Given the description of an element on the screen output the (x, y) to click on. 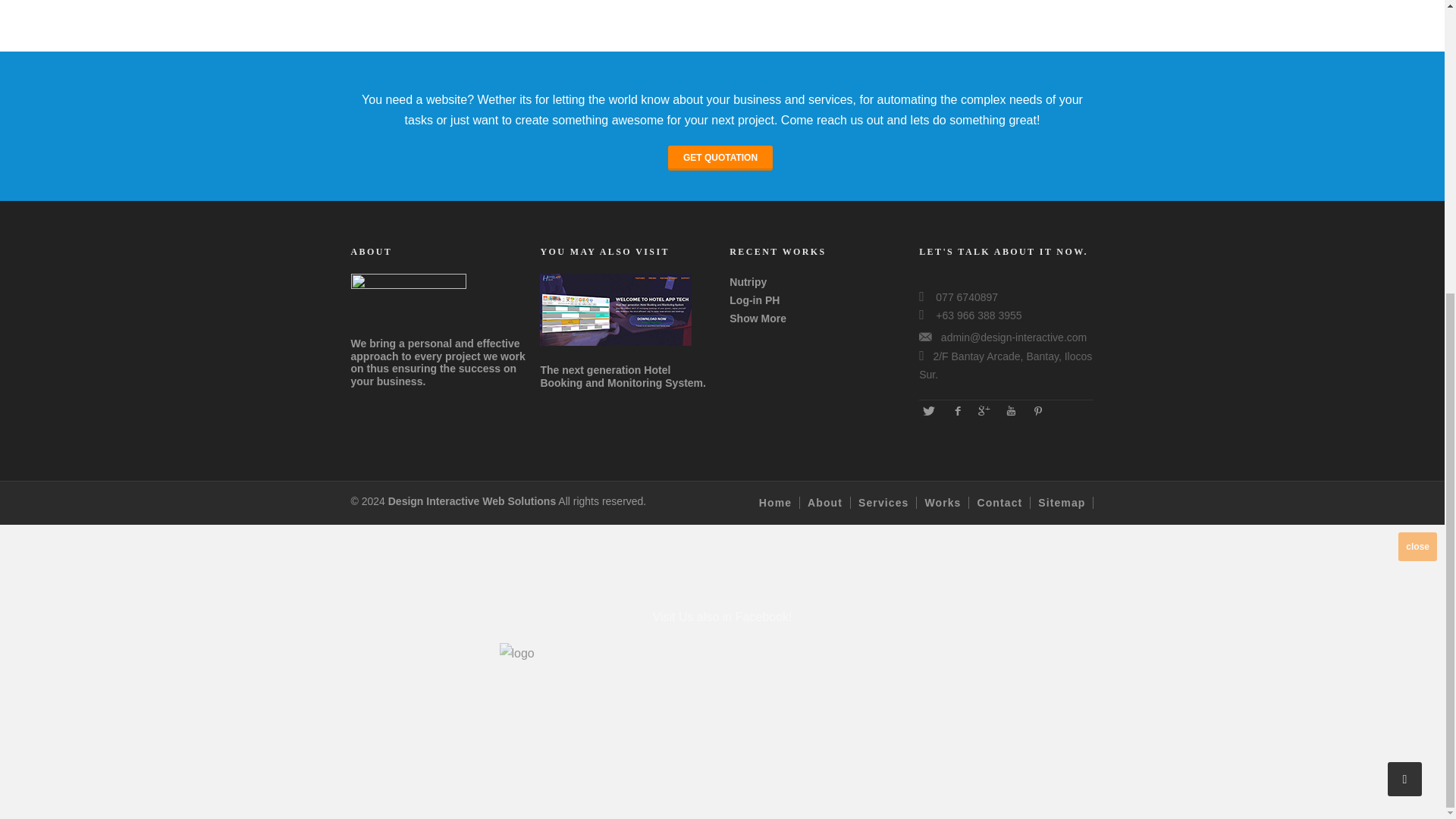
facebook (956, 410)
googleplus (983, 410)
twitter (928, 410)
Nutripy (748, 282)
Works (946, 502)
Services (888, 502)
Log-in PH (753, 300)
pinterest (1037, 410)
Contact (1003, 502)
GET QUOTATION (720, 157)
The next generation Hotel Booking and Monitoring System. (623, 376)
youtube (1010, 410)
Design Interactive Web Solutions (472, 500)
Show More (757, 318)
